Given the description of an element on the screen output the (x, y) to click on. 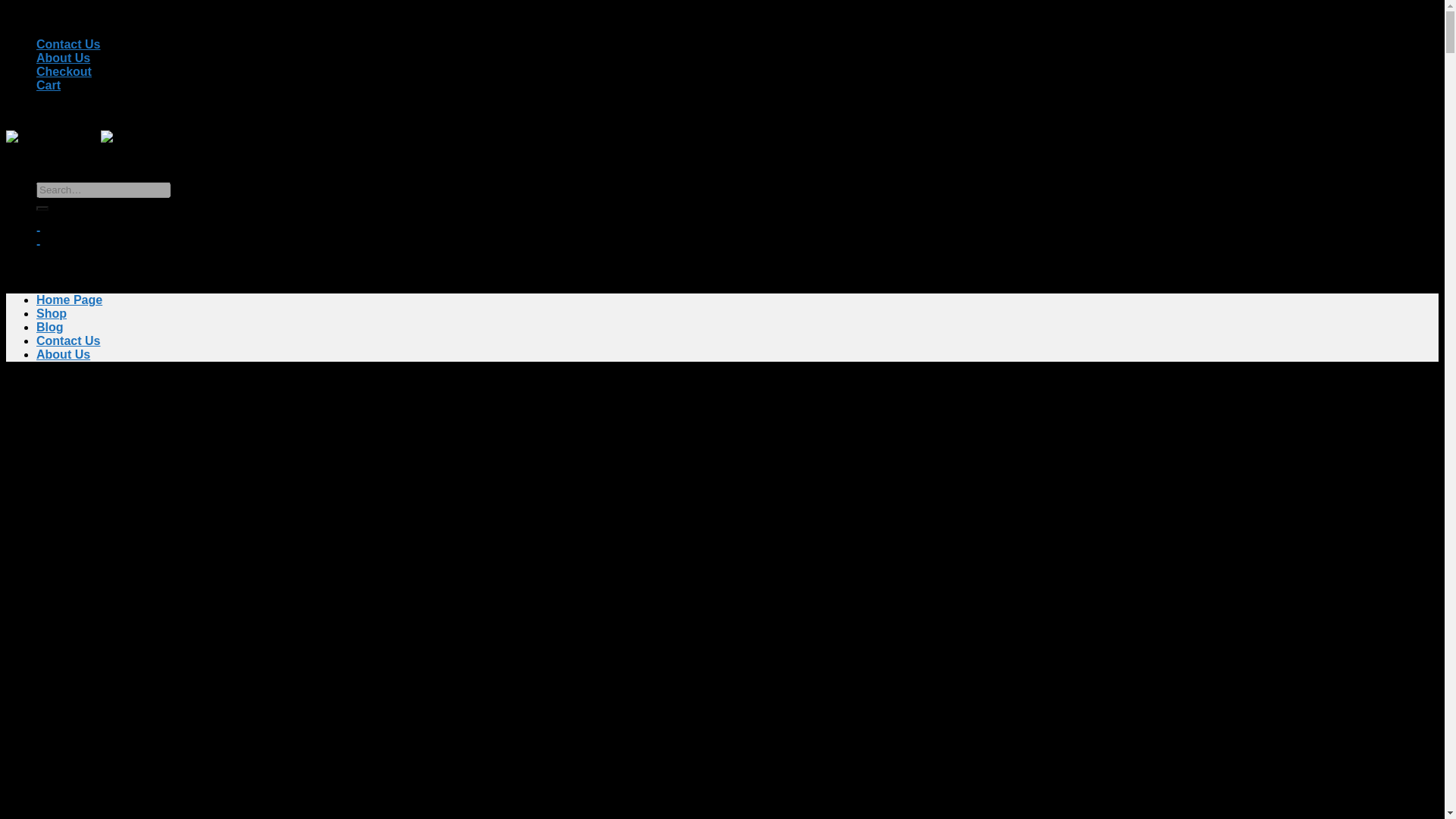
Checkout (63, 71)
Home Page (68, 299)
Shop (51, 313)
Blog (50, 327)
About Us (63, 354)
About Us (63, 57)
Contact Us (68, 340)
Contact Us (68, 43)
Cart (48, 84)
